Given the description of an element on the screen output the (x, y) to click on. 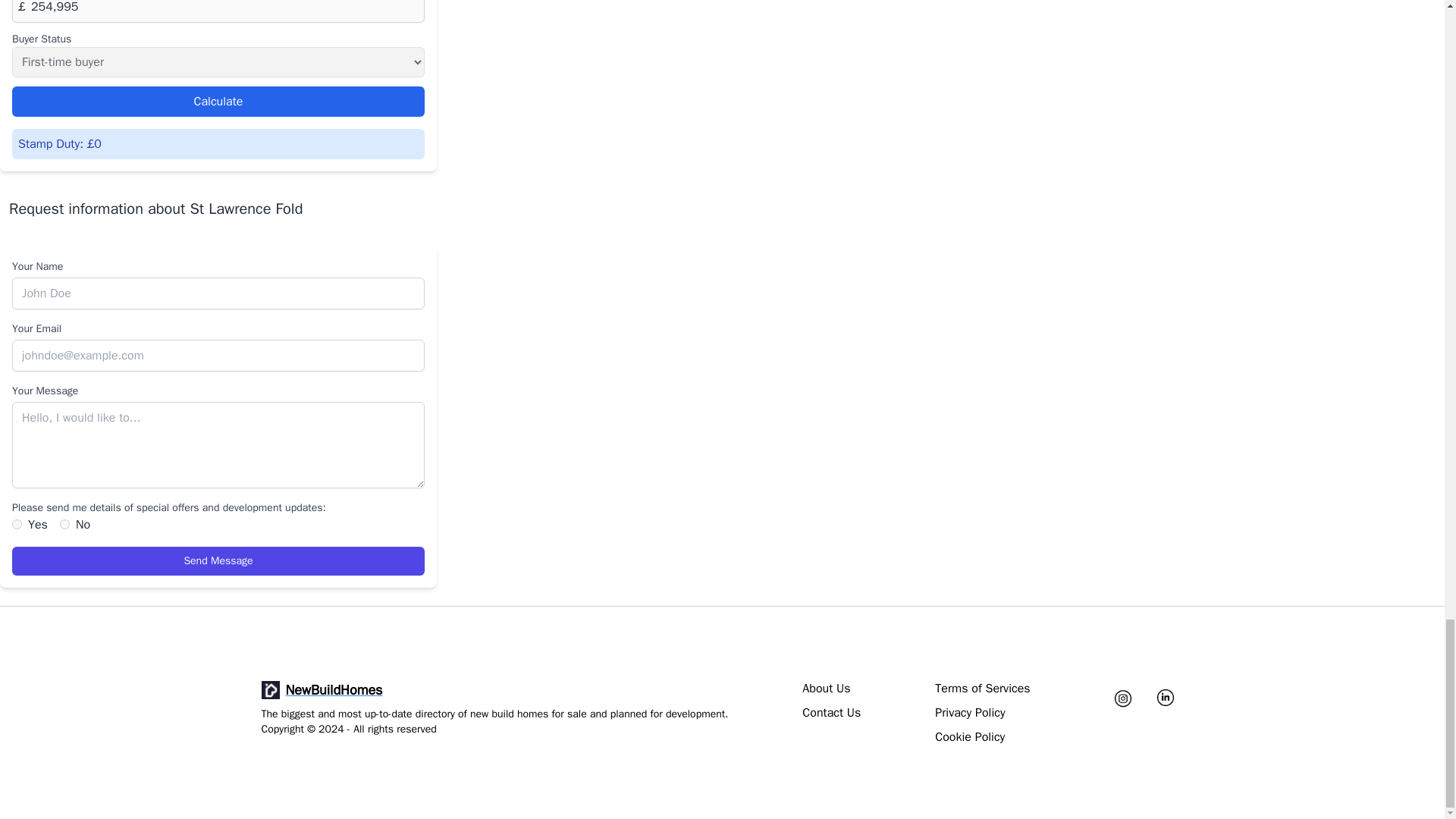
Yes (16, 524)
Privacy Policy (969, 712)
Contact Us (831, 712)
254,995 (218, 11)
Cookie Policy (969, 737)
Send Message (218, 561)
About Us (826, 688)
Terms of Services (981, 688)
NewBuildHomes (494, 690)
No (64, 524)
Calculate (218, 101)
